Given the description of an element on the screen output the (x, y) to click on. 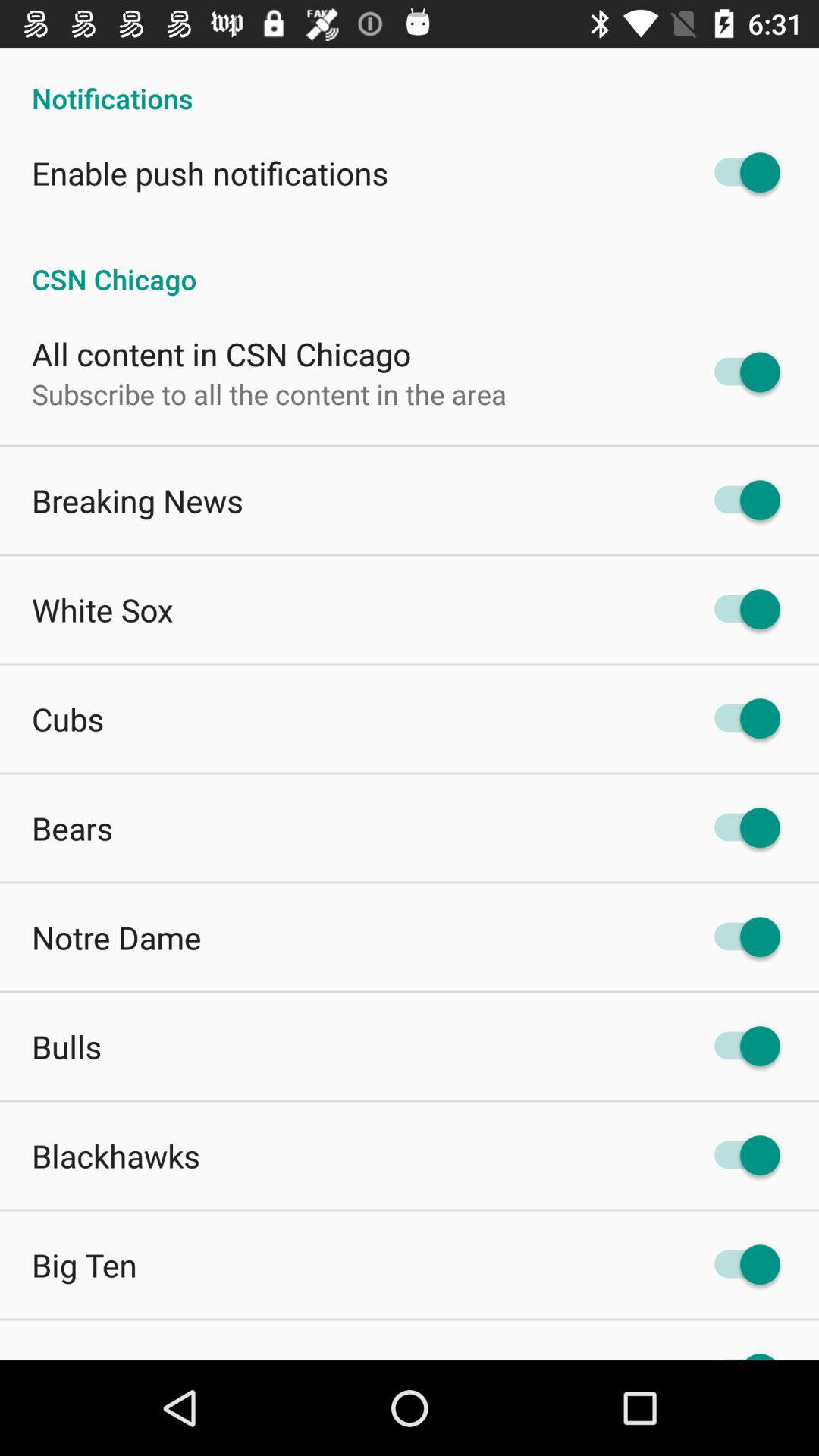
scroll to the notre dame (116, 936)
